Given the description of an element on the screen output the (x, y) to click on. 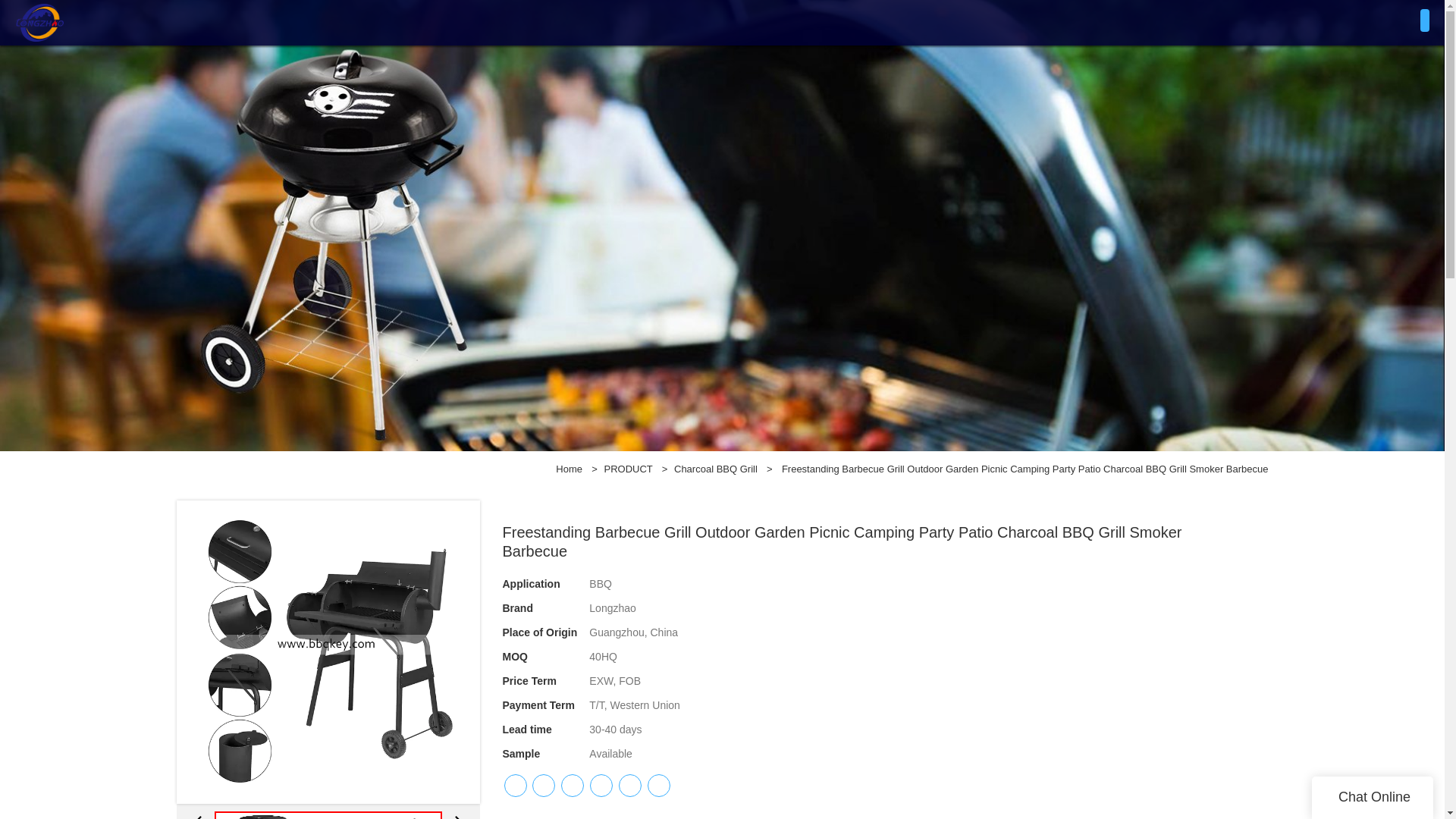
PRODUCT (628, 469)
Home (569, 469)
Charcoal BBQ Grill (715, 469)
